Given the description of an element on the screen output the (x, y) to click on. 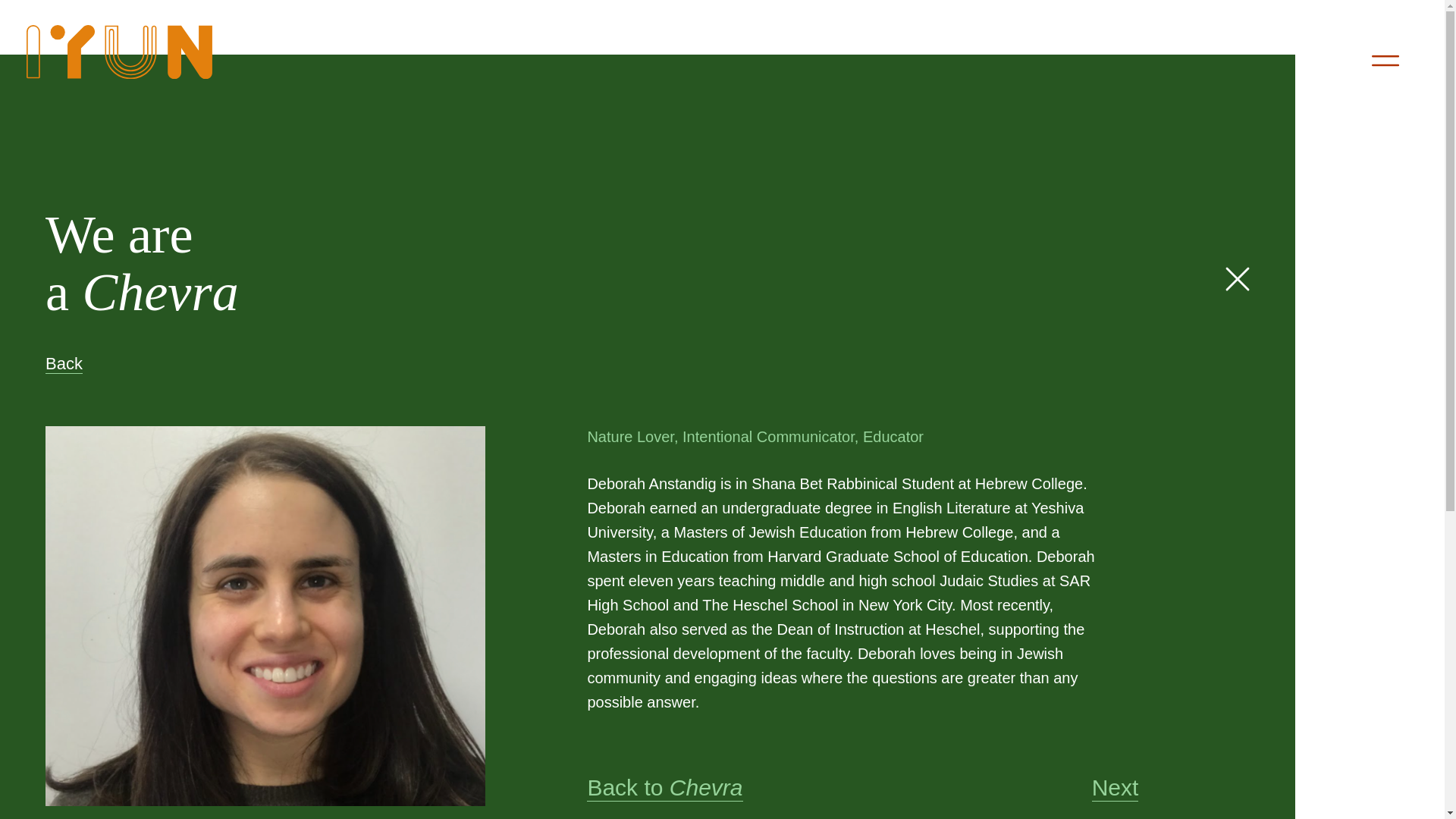
Back to Chevra (664, 787)
Next (1115, 787)
Back (63, 363)
